Given the description of an element on the screen output the (x, y) to click on. 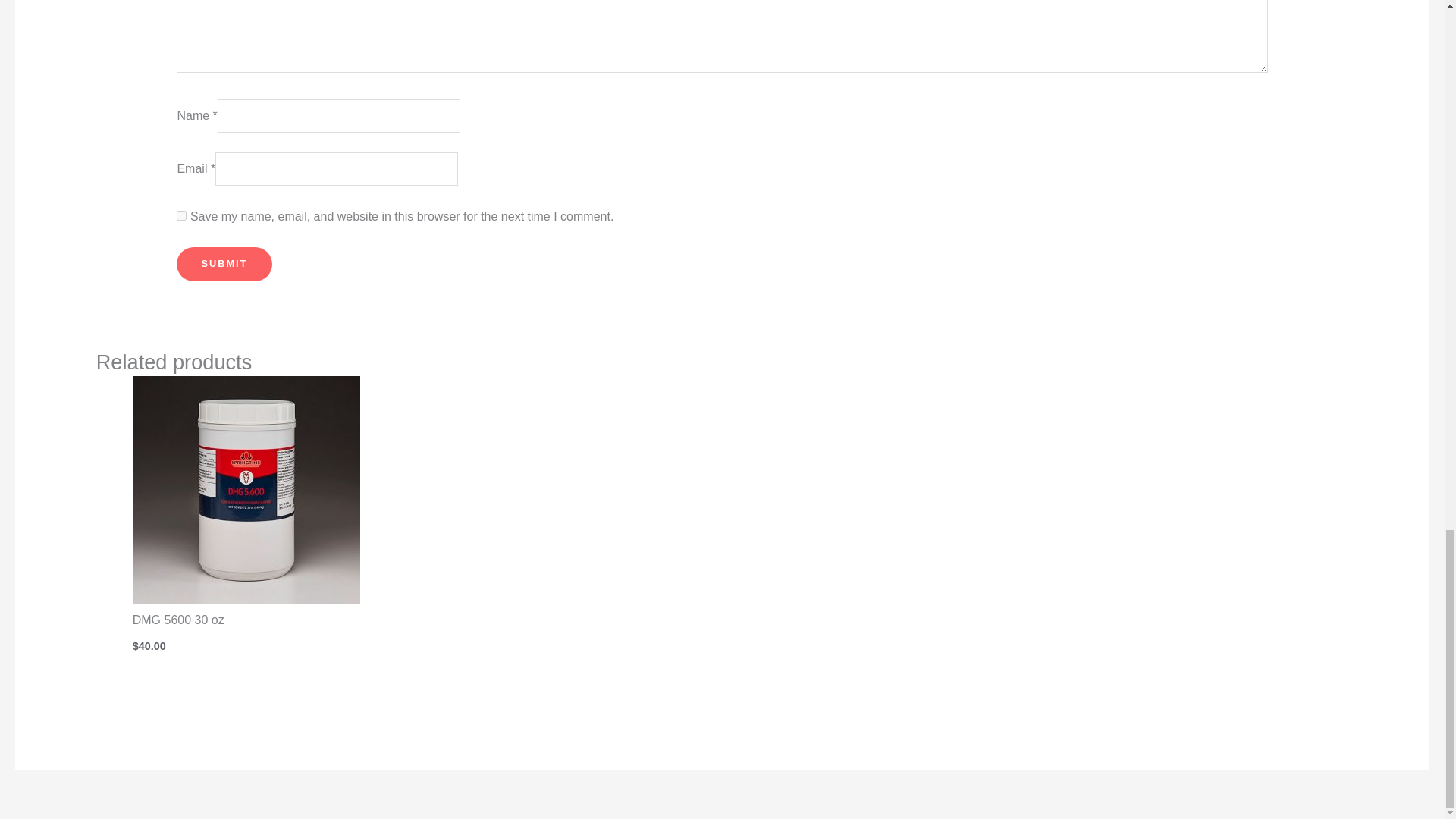
Submit (223, 264)
DMG 5600 30 oz (278, 631)
Submit (223, 264)
yes (181, 215)
